Given the description of an element on the screen output the (x, y) to click on. 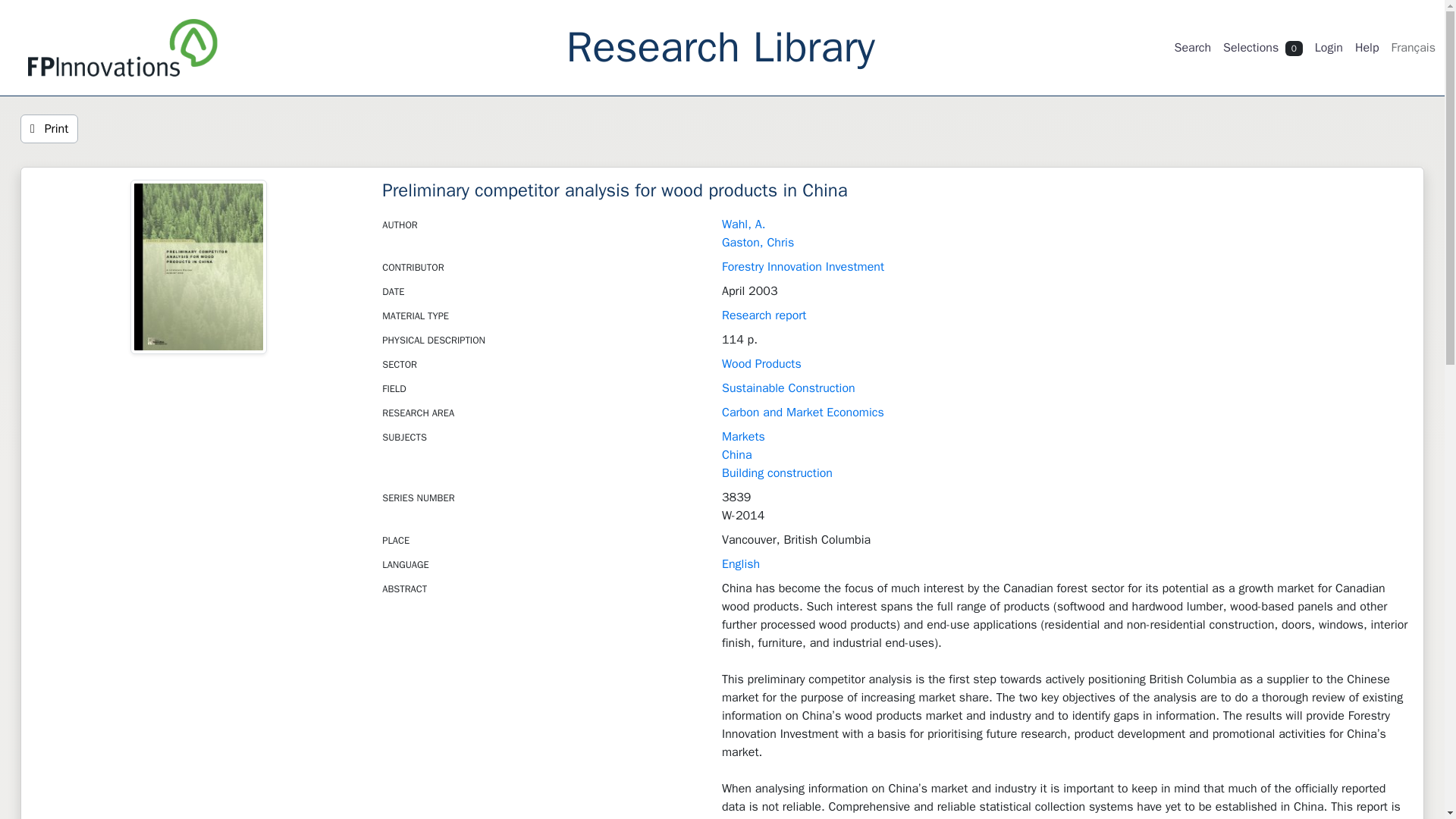
English (741, 563)
Selections 0 (1262, 47)
Search (1192, 47)
Print (49, 128)
Carbon and Market Economics (802, 412)
Help (1367, 47)
Wood Products (762, 363)
Building construction (777, 473)
Wahl, A. (743, 224)
Gaston, Chris (757, 242)
